Given the description of an element on the screen output the (x, y) to click on. 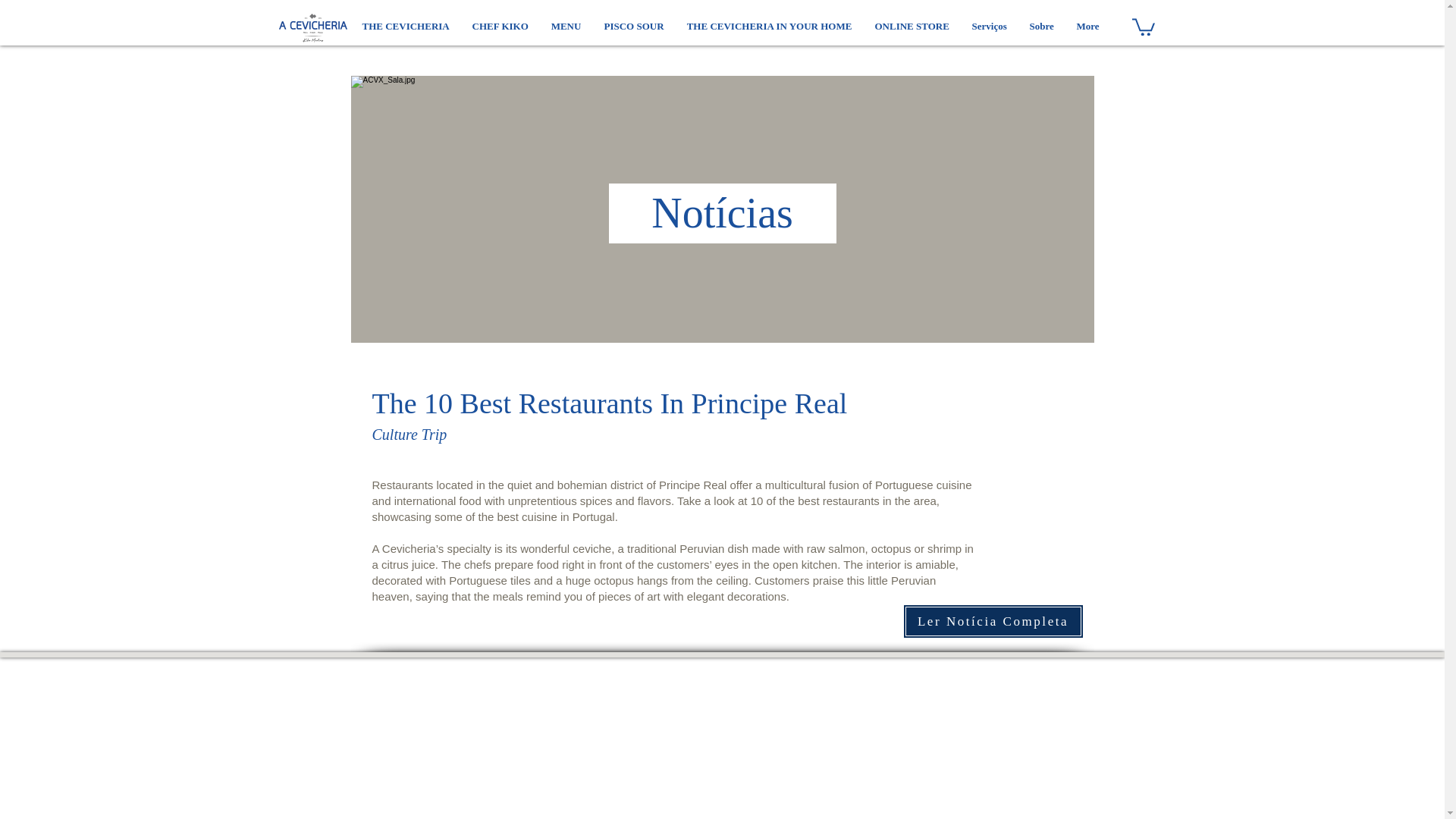
CHEF KIKO (500, 26)
Sobre (1040, 26)
THE CEVICHERIA (405, 26)
THE CEVICHERIA IN YOUR HOME (769, 26)
ONLINE STORE (911, 26)
PISCO SOUR (633, 26)
MENU (566, 26)
